Given the description of an element on the screen output the (x, y) to click on. 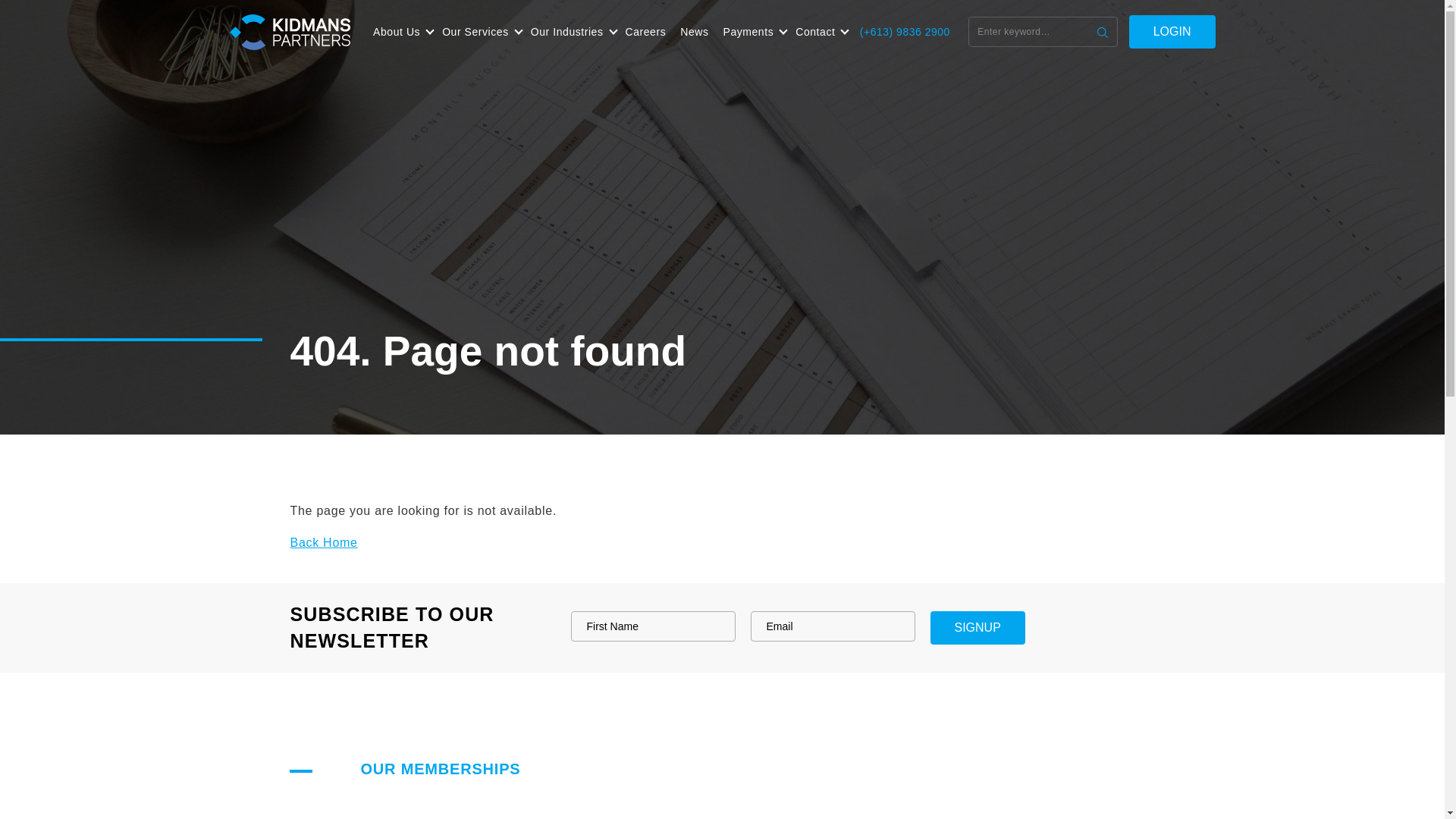
News Element type: text (694, 32)
Our Industries Element type: text (570, 32)
About Us Element type: text (400, 32)
Send Element type: text (1102, 31)
Back Home Element type: text (323, 542)
Contact Element type: text (818, 32)
Kidmans Partners Element type: hover (289, 32)
Careers Element type: text (645, 32)
SIGNUP Element type: text (976, 627)
Payments Element type: text (752, 32)
(+613) 9836 2900 Element type: text (904, 31)
Our Services Element type: text (479, 32)
